Given the description of an element on the screen output the (x, y) to click on. 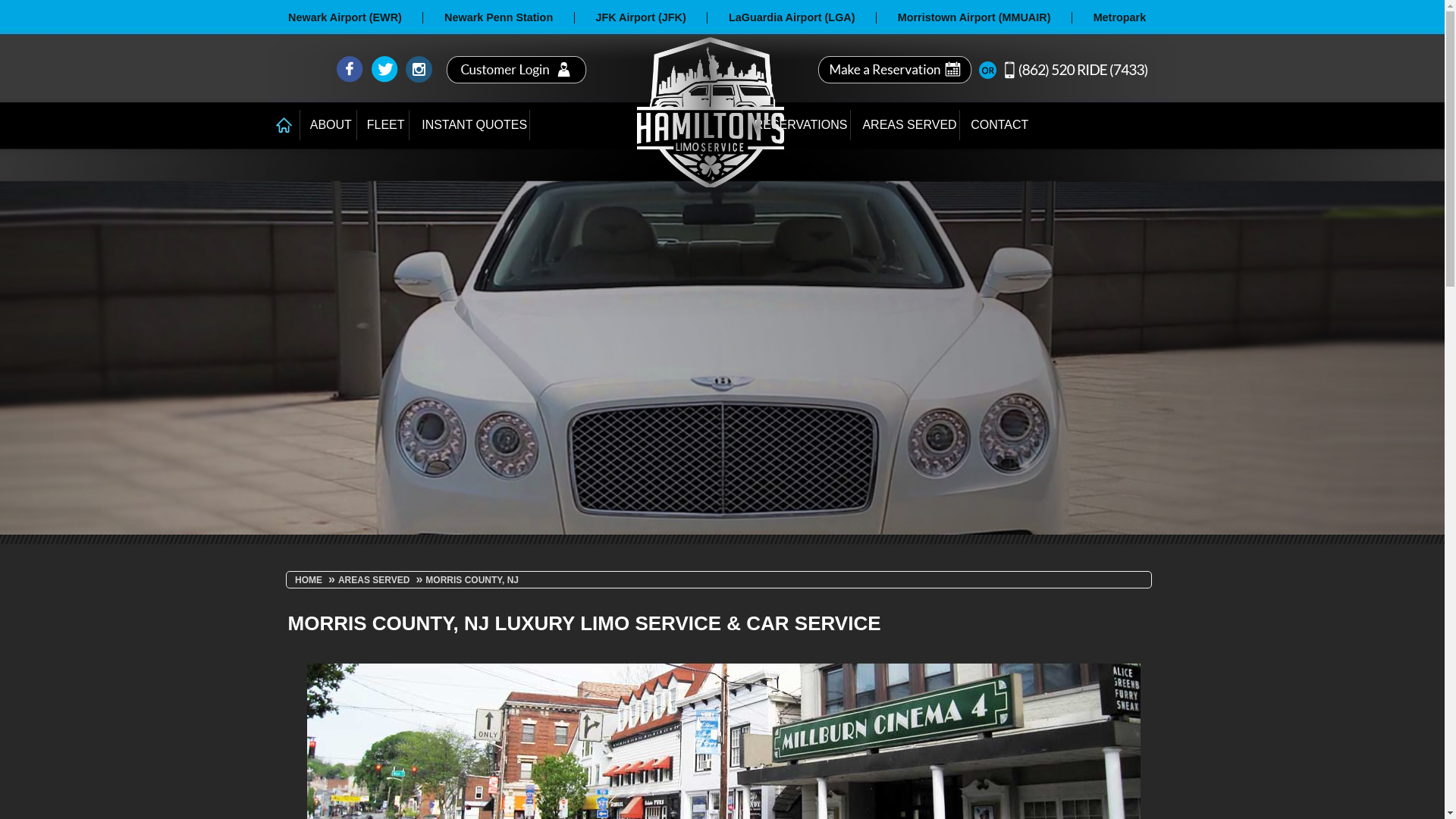
Metropark (1120, 17)
ABOUT (329, 125)
FLEET (384, 125)
Newark Penn Station (498, 17)
